Given the description of an element on the screen output the (x, y) to click on. 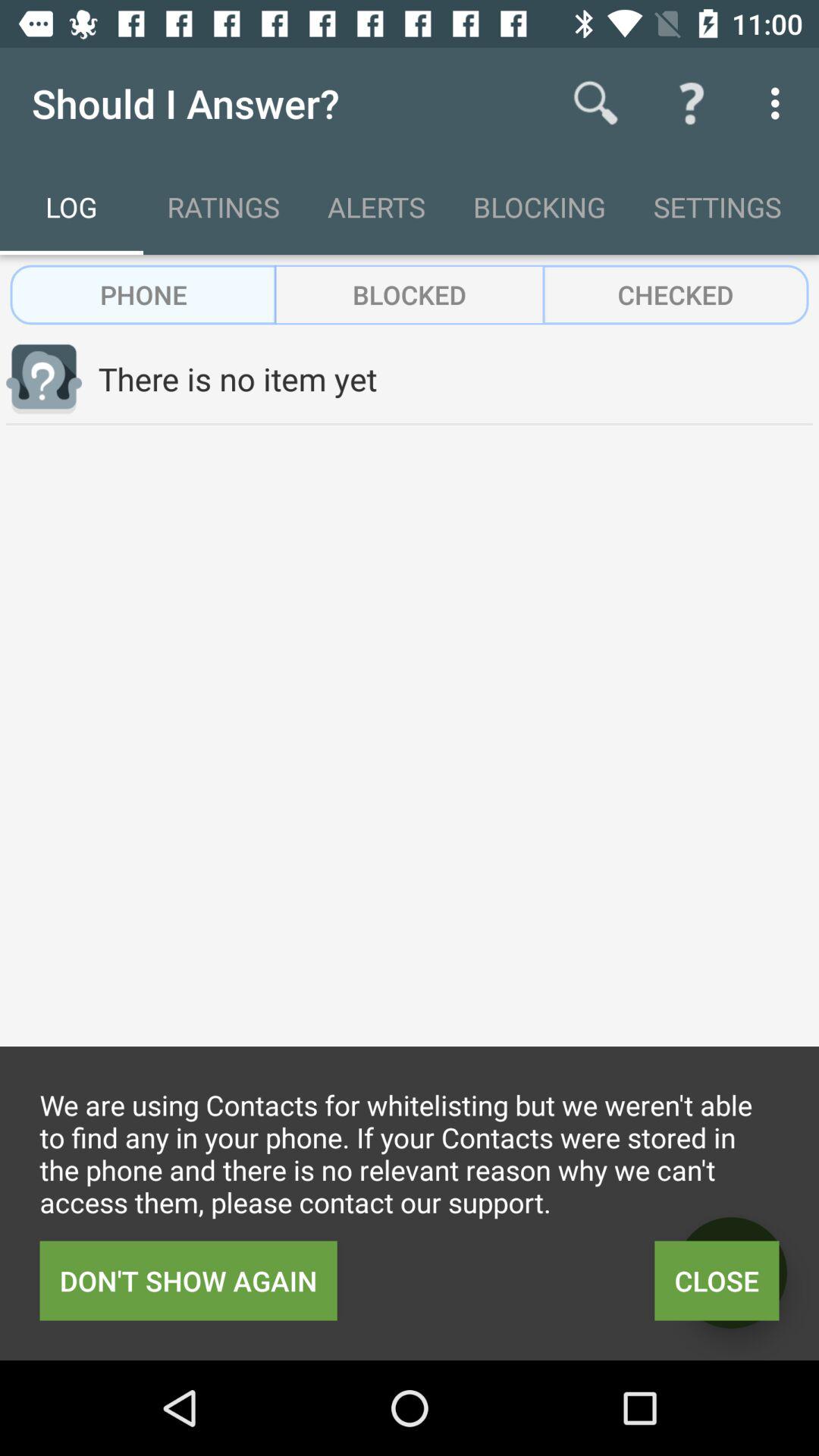
click item to the right of don t show (731, 1272)
